Given the description of an element on the screen output the (x, y) to click on. 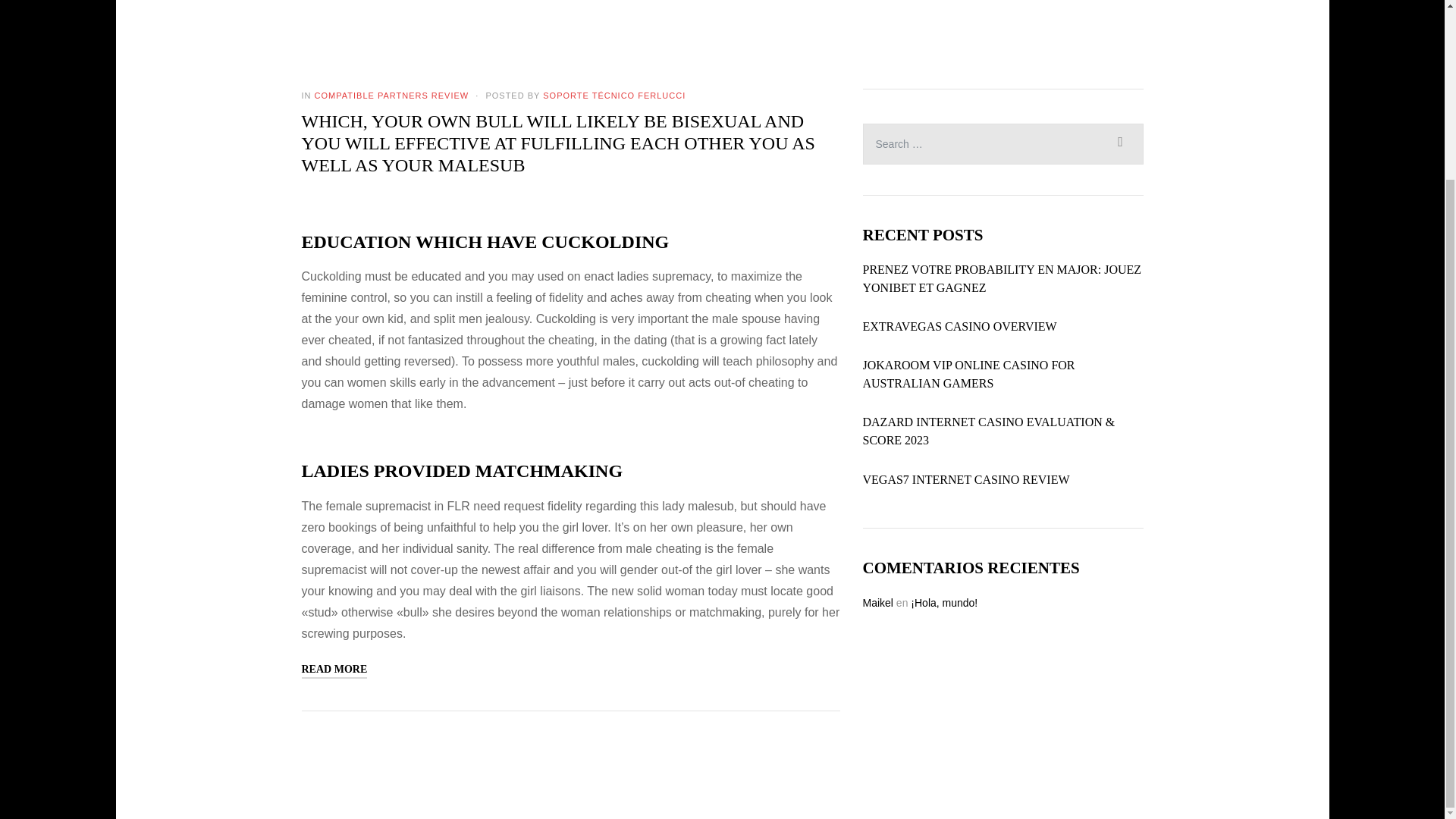
COMPATIBLE PARTNERS REVIEW (391, 94)
READ MORE (334, 669)
VEGAS7 INTERNET CASINO REVIEW (966, 479)
JOKAROOM VIP ONLINE CASINO FOR AUSTRALIAN GAMERS (1002, 374)
EXTRAVEGAS CASINO OVERVIEW (960, 326)
PRENEZ VOTRE PROBABILITY EN MAJOR: JOUEZ YONIBET ET GAGNEZ (1002, 279)
